Given the description of an element on the screen output the (x, y) to click on. 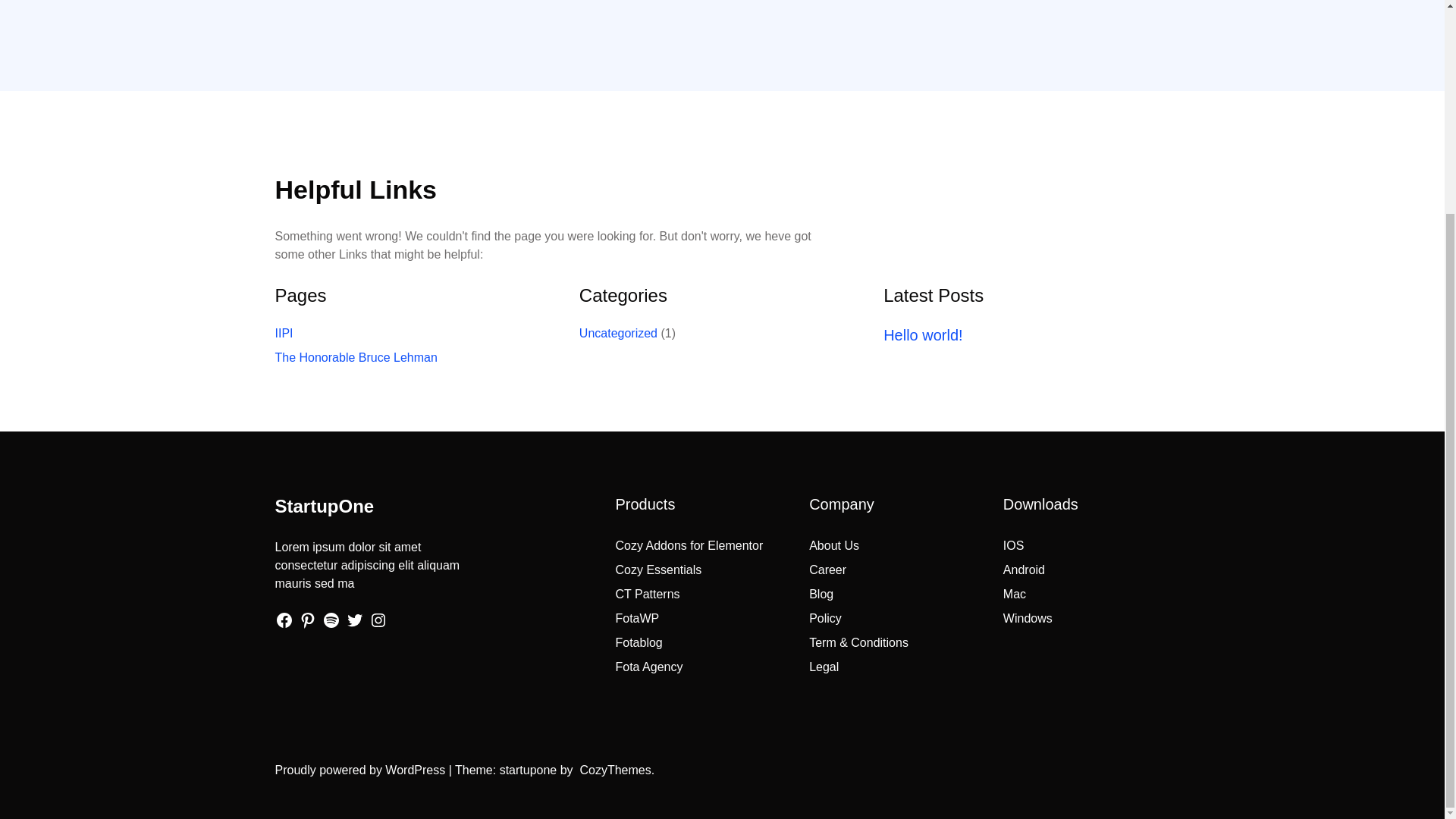
Spotify (330, 619)
Instagram (378, 619)
Fota Agency (648, 666)
The Honorable Bruce Lehman (355, 357)
Android (1024, 569)
IIPI (283, 332)
Hello world! (922, 335)
Facebook (283, 619)
Fotablog (638, 642)
Cozy Addons for Elementor (688, 545)
Twitter (355, 619)
Policy (825, 617)
Career (827, 569)
Legal (823, 666)
Windows (1027, 617)
